Given the description of an element on the screen output the (x, y) to click on. 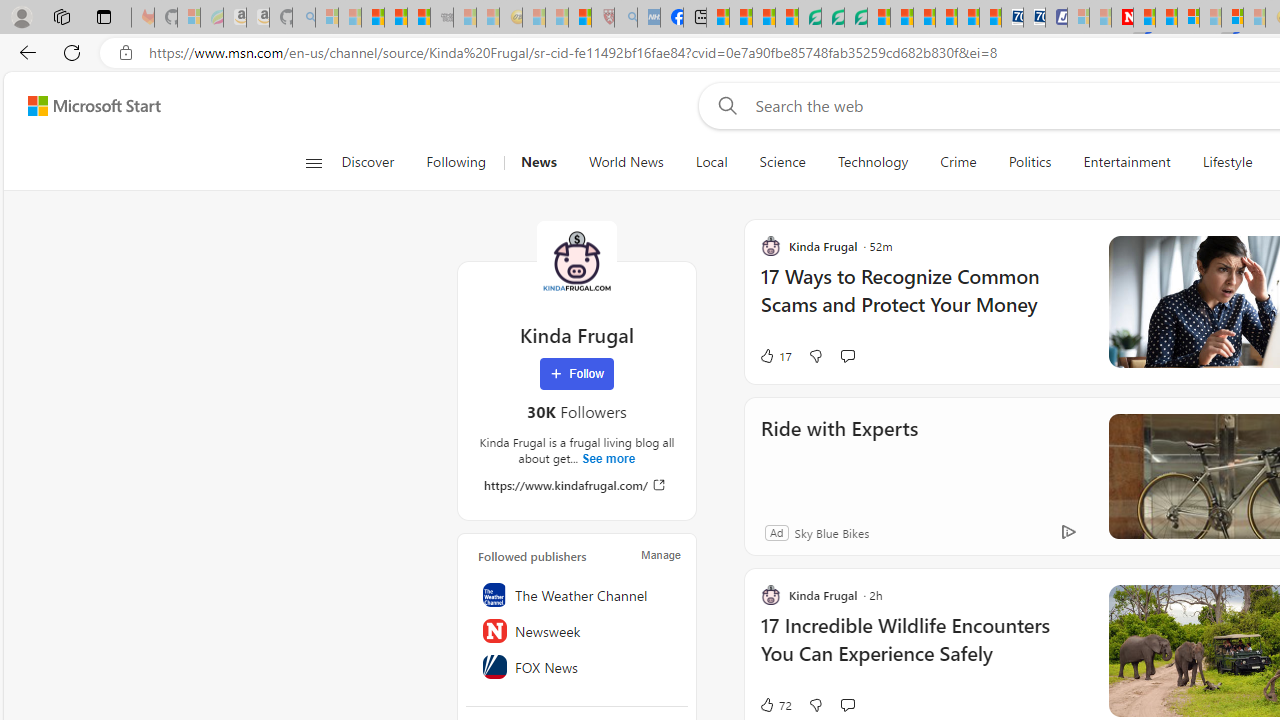
Following (456, 162)
Recipes - MSN - Sleeping (534, 17)
Manage (660, 554)
Skip to content (86, 105)
Technology (872, 162)
Science (782, 162)
Discover (375, 162)
Latest Politics News & Archive | Newsweek.com (1122, 17)
Skip to footer (82, 105)
